Given the description of an element on the screen output the (x, y) to click on. 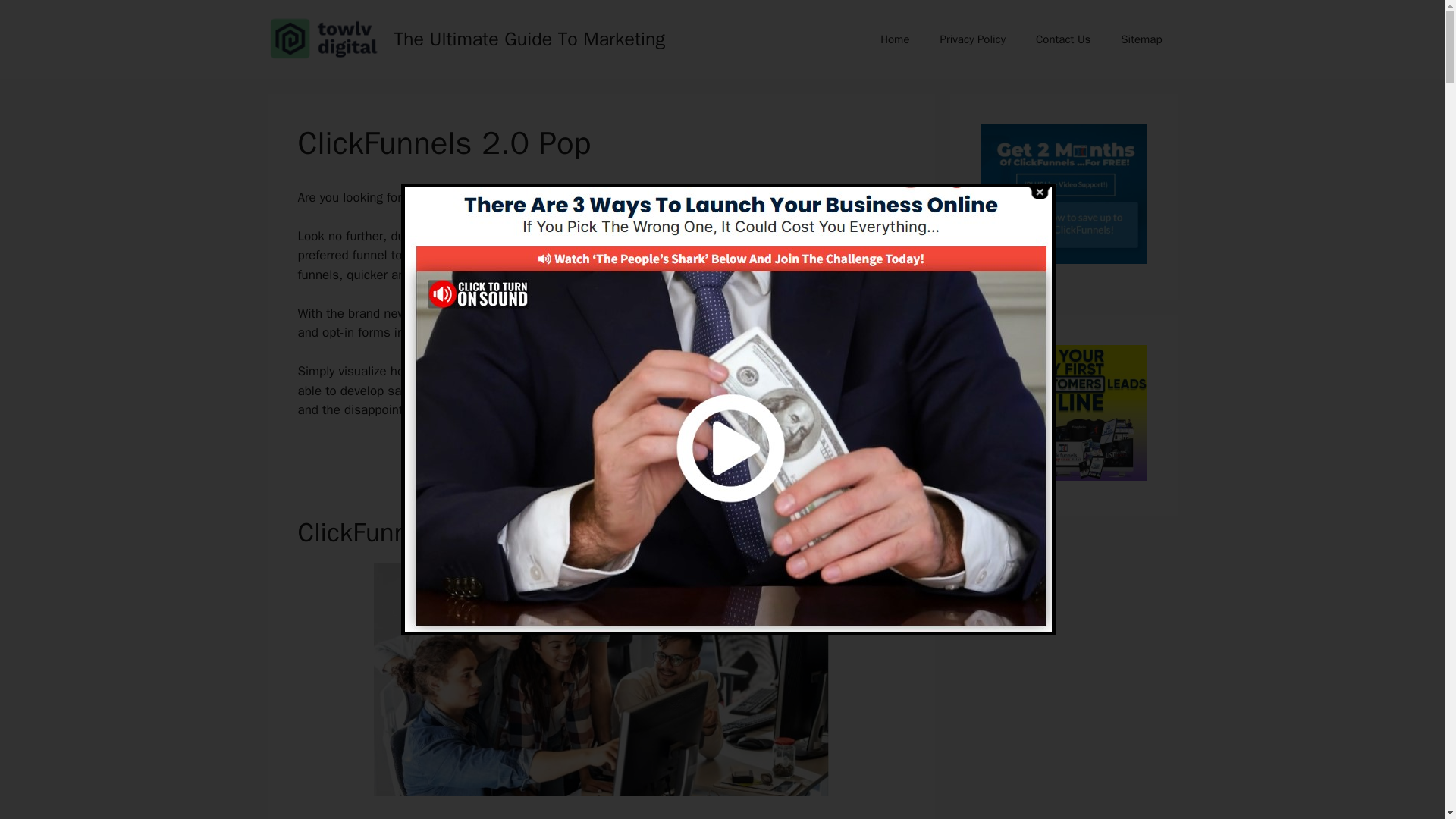
Home (894, 39)
Sitemap (1140, 39)
Privacy Policy (972, 39)
Contact Us (1062, 39)
The Ultimate Guide To Marketing (529, 38)
